Given the description of an element on the screen output the (x, y) to click on. 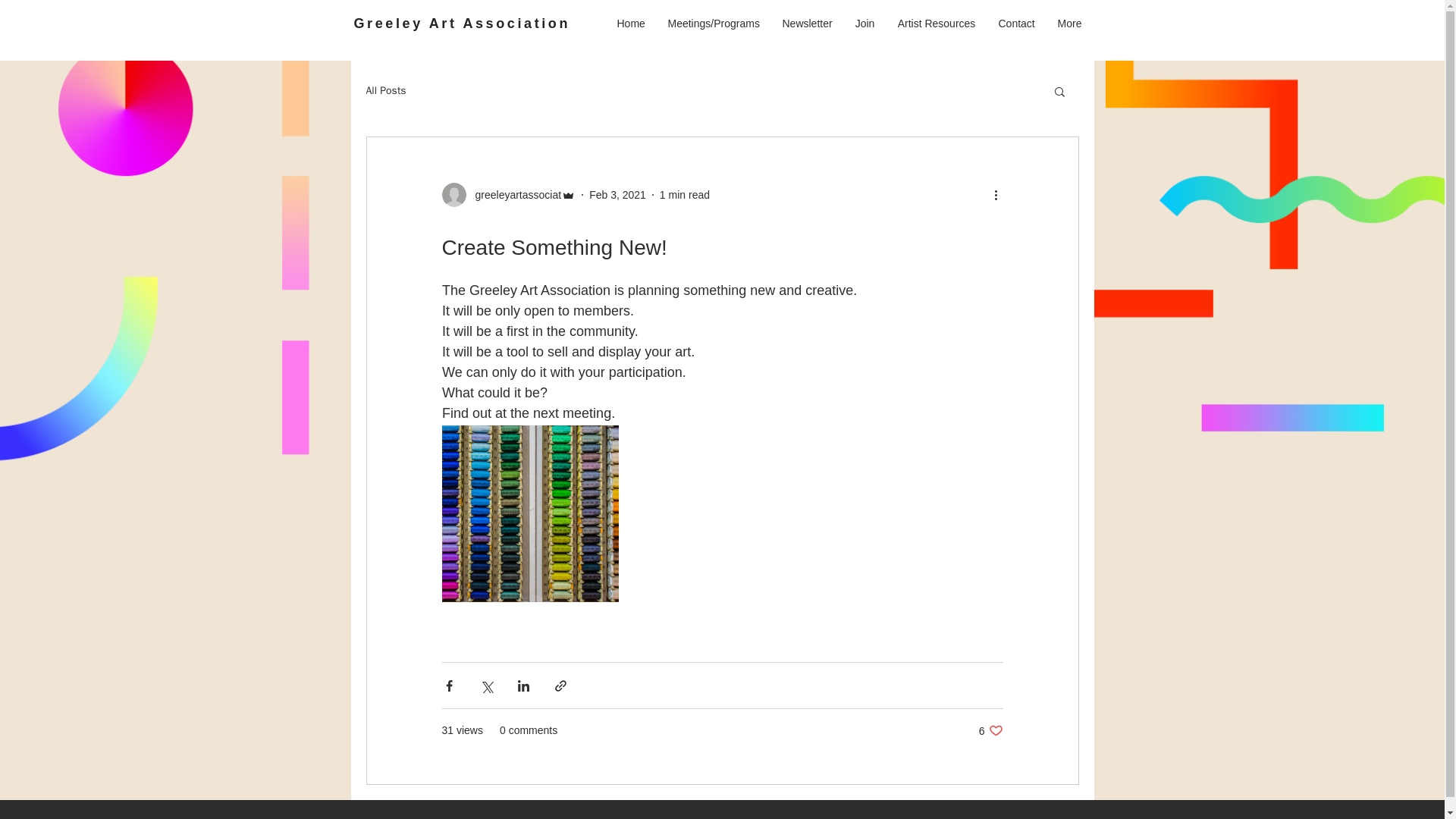
Contact (1016, 23)
Home (630, 23)
1 min read (684, 193)
Artist Resources (936, 23)
All Posts (385, 90)
Feb 3, 2021 (617, 193)
Join (864, 23)
greeleyartassociat (508, 194)
Newsletter (806, 23)
